Given the description of an element on the screen output the (x, y) to click on. 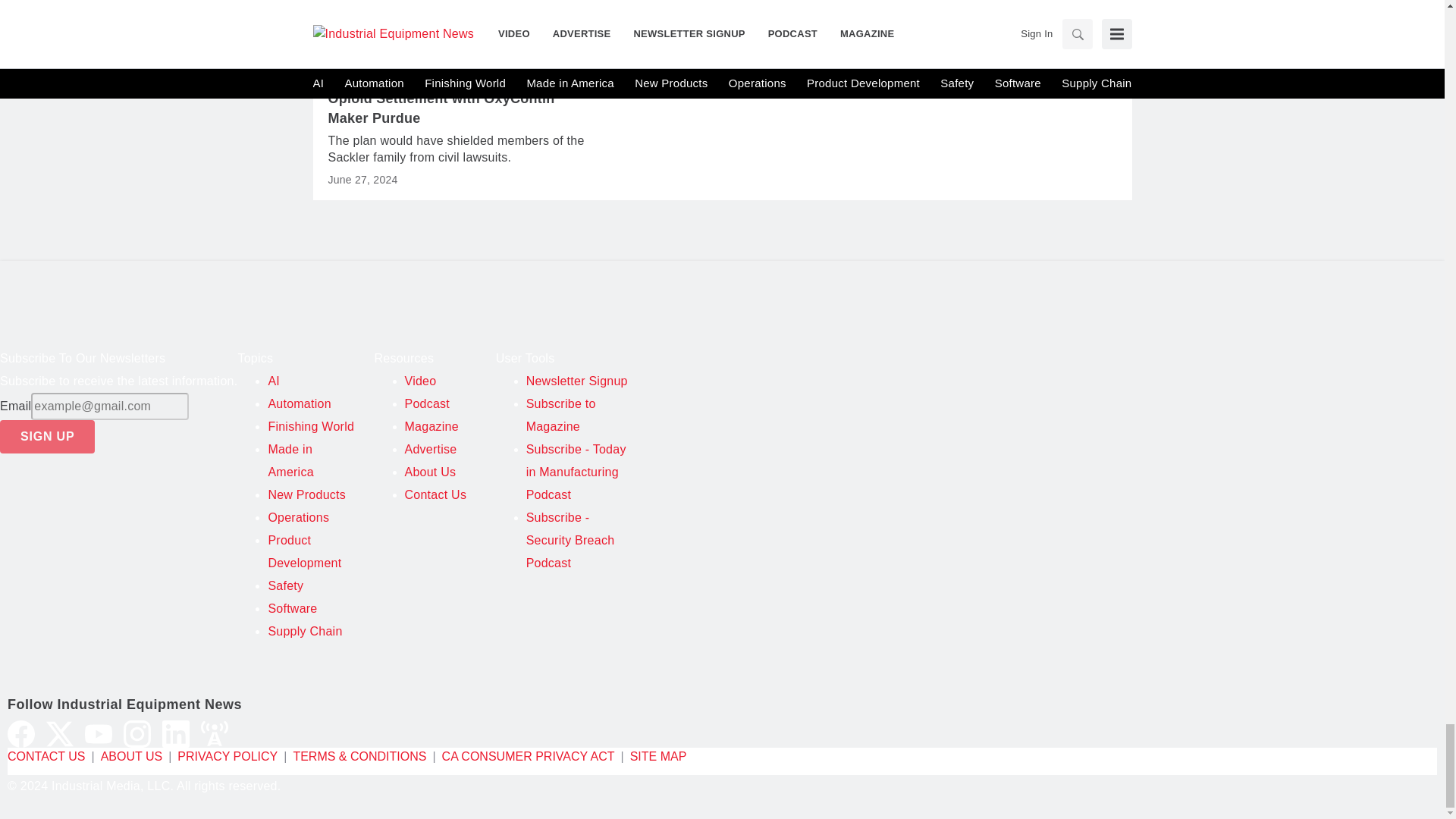
Instagram icon (137, 733)
YouTube icon (98, 733)
Facebook icon (20, 733)
LinkedIn icon (175, 733)
Twitter X icon (60, 733)
